Given the description of an element on the screen output the (x, y) to click on. 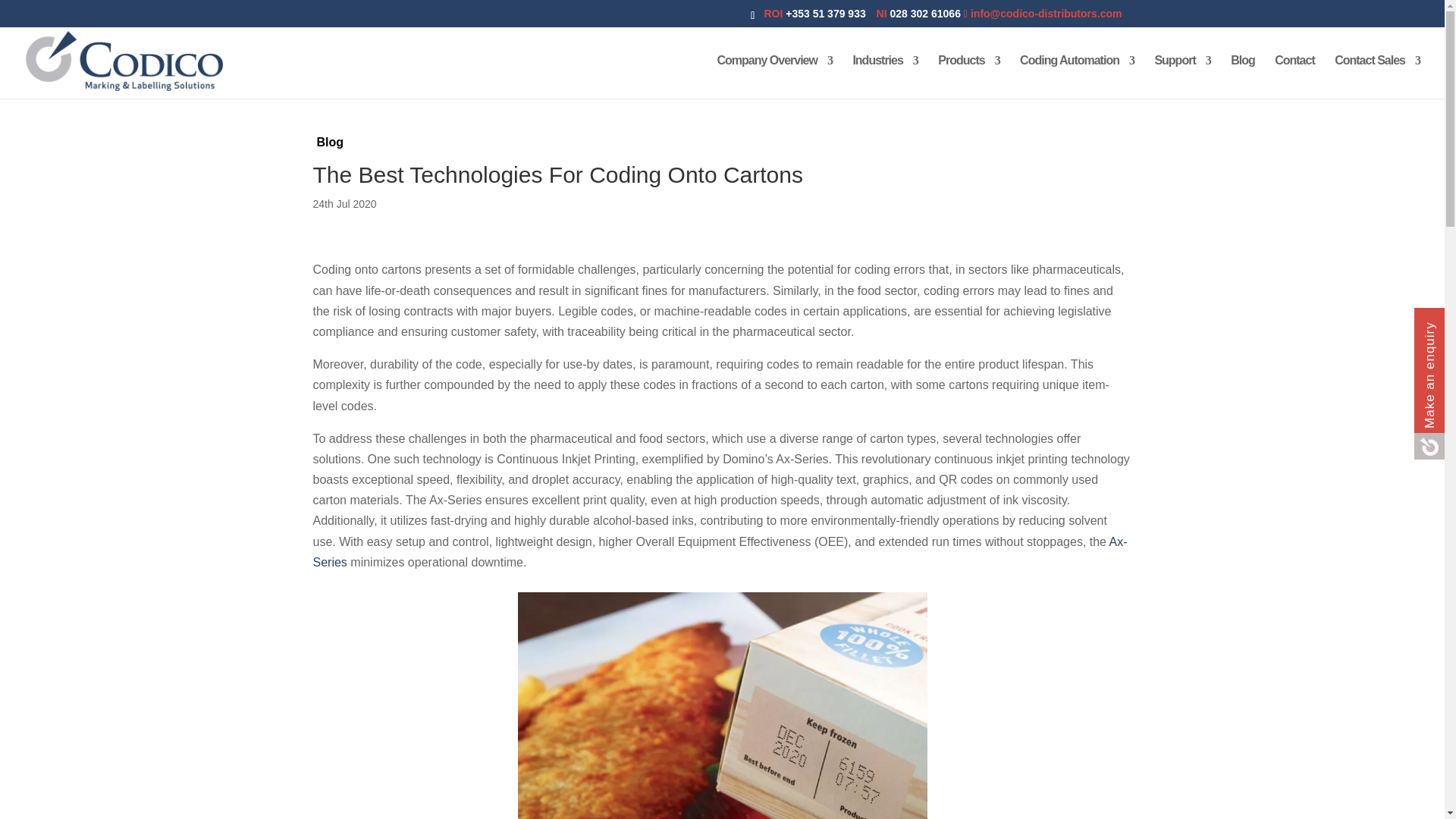
028 302 61066 (926, 13)
Industries (884, 76)
Company Overview (774, 76)
Products (967, 76)
